Given the description of an element on the screen output the (x, y) to click on. 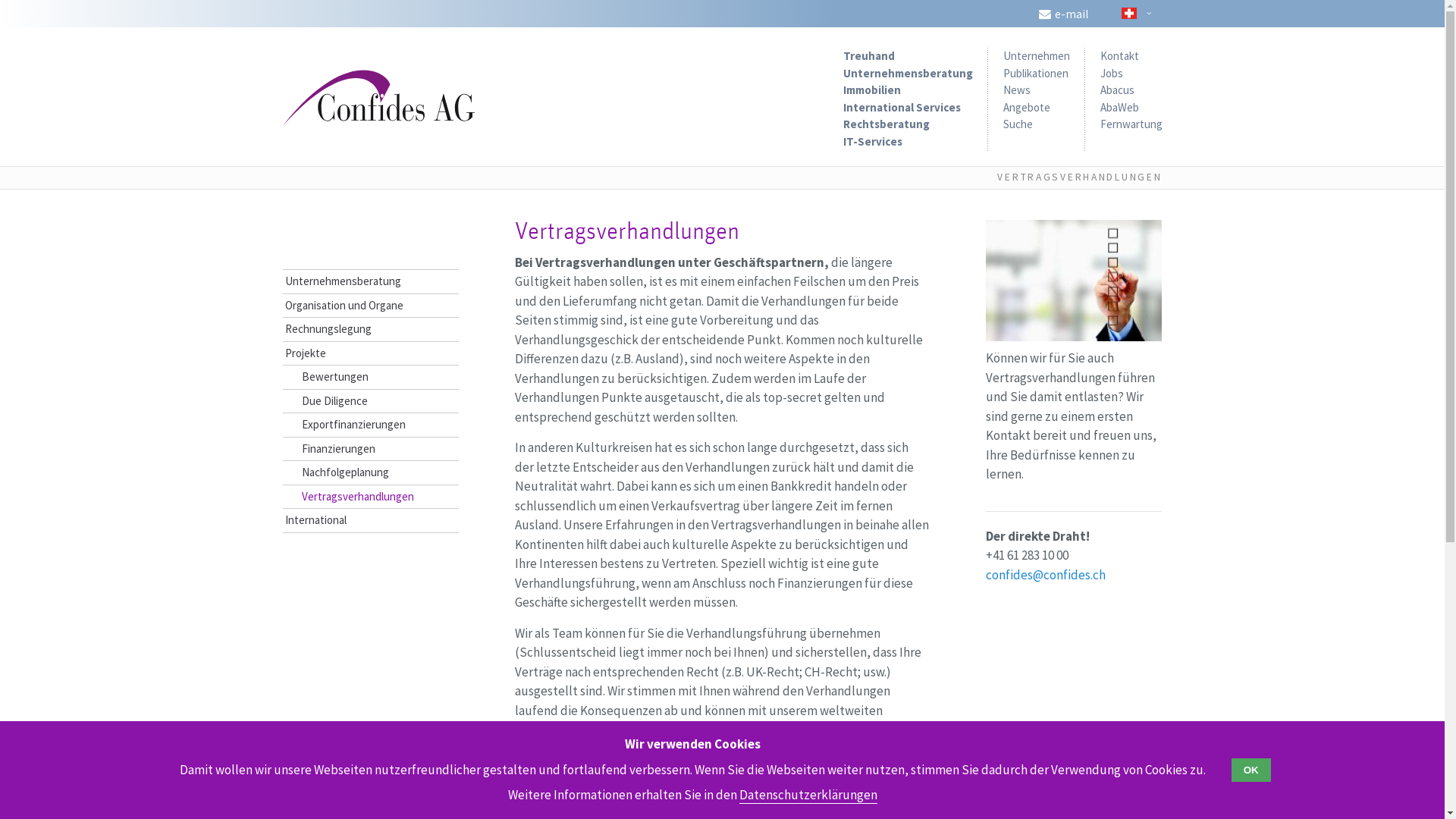
Immobilien Element type: text (871, 89)
News Element type: text (1015, 89)
Unternehmensberatung Element type: text (907, 72)
Rechtsberatung Element type: text (886, 123)
e-mail Element type: text (1061, 13)
Abacus Element type: text (1116, 89)
Bewertungen Element type: text (370, 377)
Suche Element type: text (1017, 123)
Unternehmen Element type: text (1035, 55)
Rechnungslegung Element type: text (370, 329)
Jobs Element type: text (1110, 72)
Exportfinanzierungen Element type: text (370, 424)
Fernwartung Element type: text (1130, 123)
Finanzierungen Element type: text (370, 449)
Nachfolgeplanung Element type: text (370, 472)
International Element type: text (370, 520)
Unternehmensberatung Element type: text (370, 281)
Vertragsverhandlungen Element type: text (370, 496)
OK Element type: text (1250, 769)
Publikationen Element type: text (1034, 72)
Angebote Element type: text (1025, 107)
Kontakt Element type: text (1118, 55)
AbaWeb Element type: text (1118, 107)
International Services Element type: text (901, 107)
IT-Services Element type: text (872, 141)
confides@confides.ch Element type: text (1045, 574)
Treuhand Element type: text (868, 55)
Projekte Element type: text (370, 353)
Due Diligence Element type: text (370, 401)
Organisation und Organe Element type: text (370, 305)
